Given the description of an element on the screen output the (x, y) to click on. 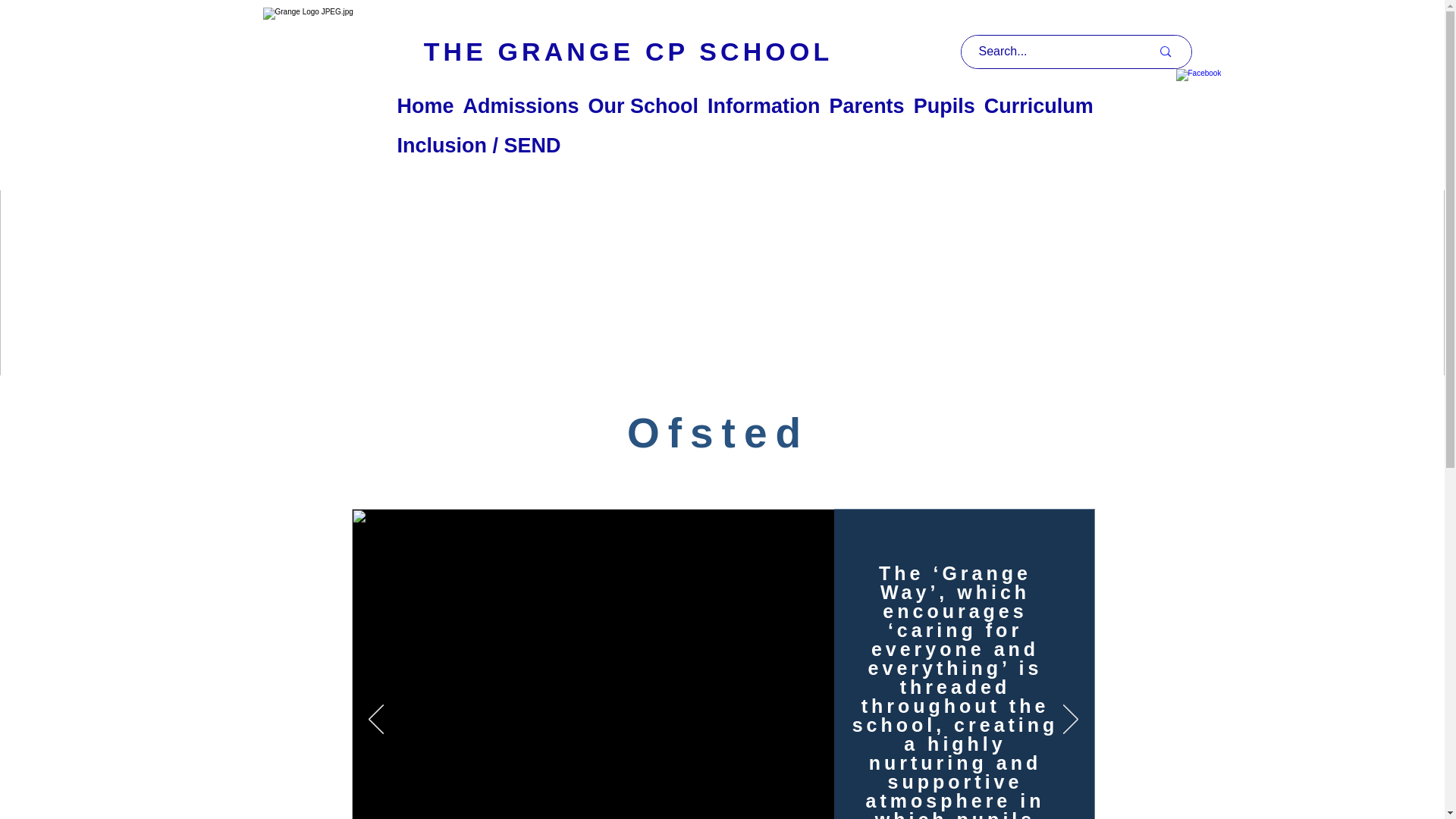
Home (425, 106)
THE GRANGE CP SCHOOL (627, 51)
Parents (866, 106)
Our School (643, 106)
